Given the description of an element on the screen output the (x, y) to click on. 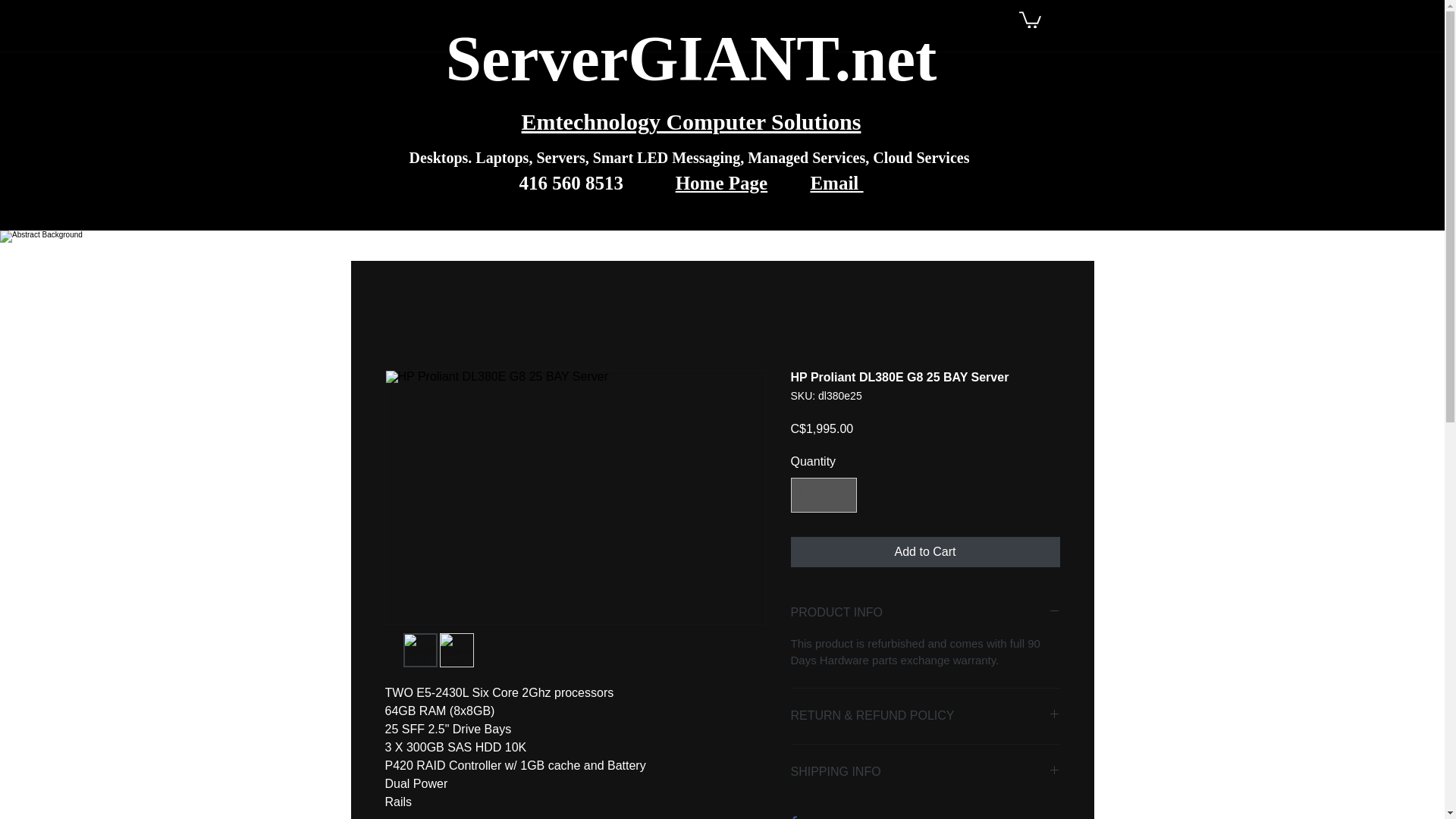
Email  (836, 182)
SHIPPING INFO (924, 772)
1 (823, 494)
Home Page (721, 182)
PRODUCT INFO (924, 612)
Add to Cart (924, 552)
